Given the description of an element on the screen output the (x, y) to click on. 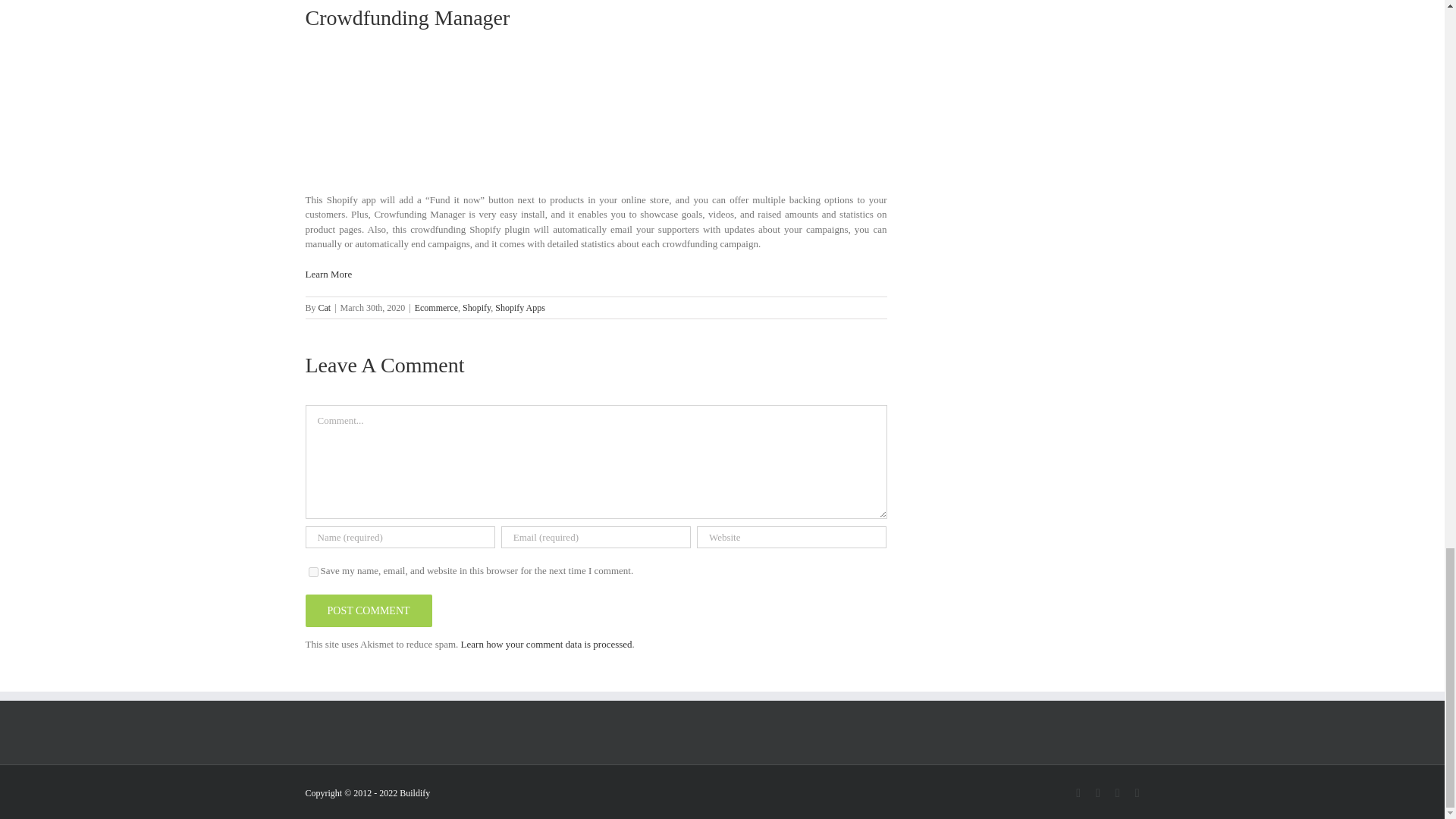
Post Comment (367, 610)
Shopify Apps (519, 307)
Learn More (328, 274)
Posts by Cat (324, 307)
Ecommerce (436, 307)
yes (312, 572)
Shopify (476, 307)
Cat (324, 307)
